Given the description of an element on the screen output the (x, y) to click on. 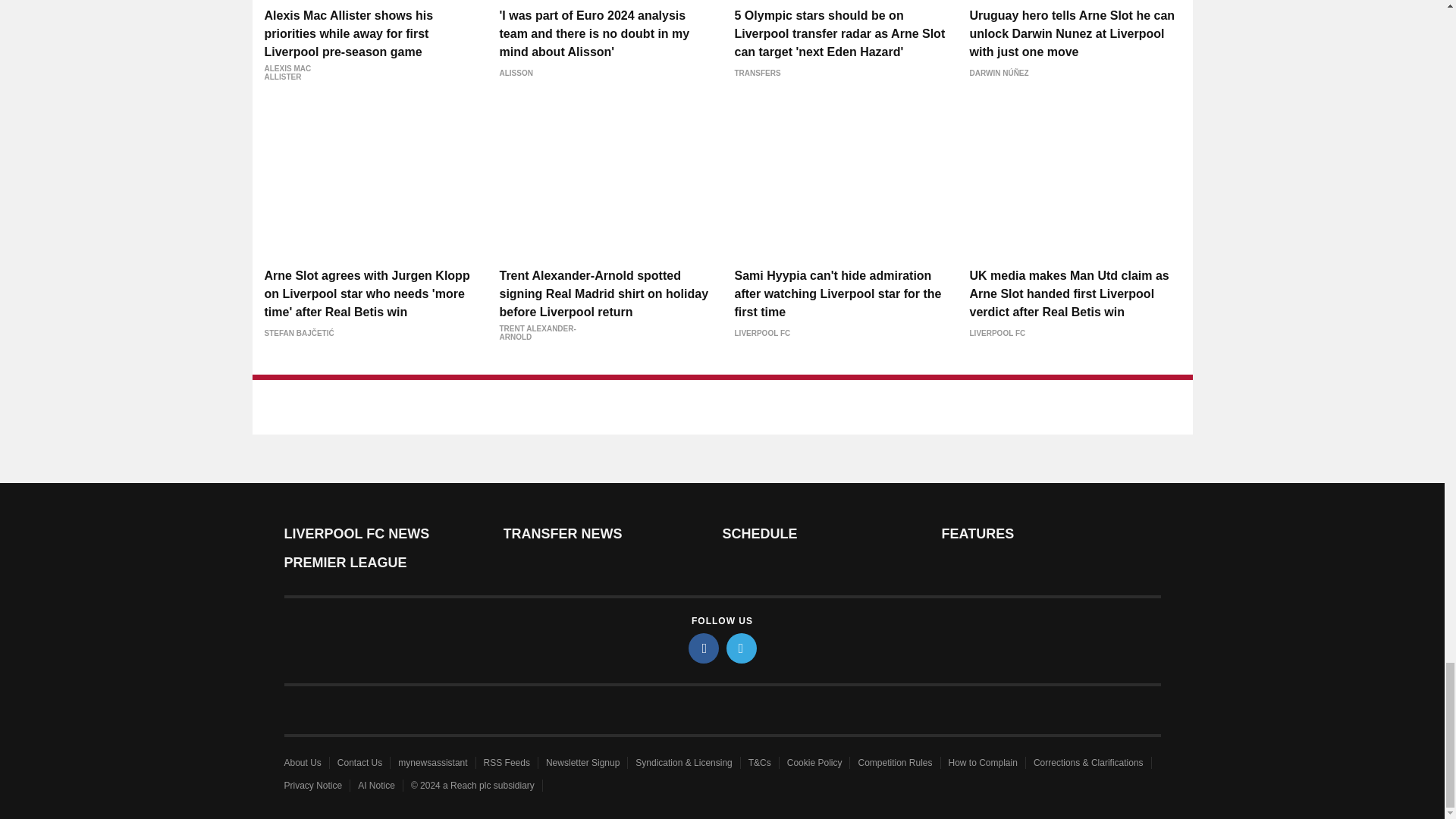
facebook (703, 648)
twitter (741, 648)
